Given the description of an element on the screen output the (x, y) to click on. 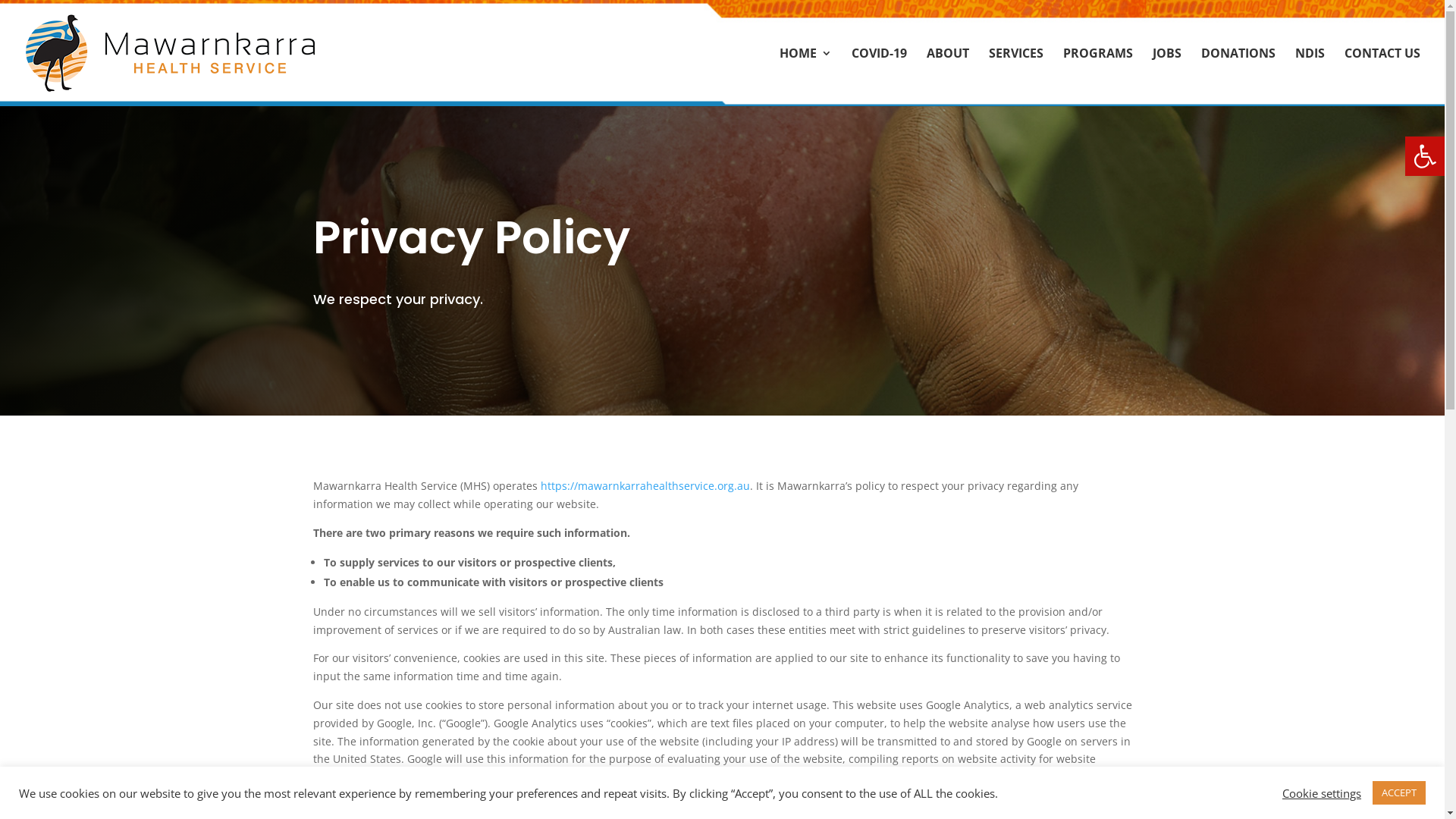
ACCEPT Element type: text (1398, 792)
COVID-19 Element type: text (878, 76)
NDIS Element type: text (1309, 76)
PROGRAMS Element type: text (1097, 76)
Open toolbar
Accessibility Tools Element type: text (1424, 155)
HOME Element type: text (805, 76)
JOBS Element type: text (1166, 76)
SERVICES Element type: text (1015, 76)
ABOUT Element type: text (947, 76)
Cookie settings Element type: text (1321, 792)
DONATIONS Element type: text (1238, 76)
CONTACT US Element type: text (1382, 76)
https://mawarnkarrahealthservice.org.au Element type: text (644, 485)
